Given the description of an element on the screen output the (x, y) to click on. 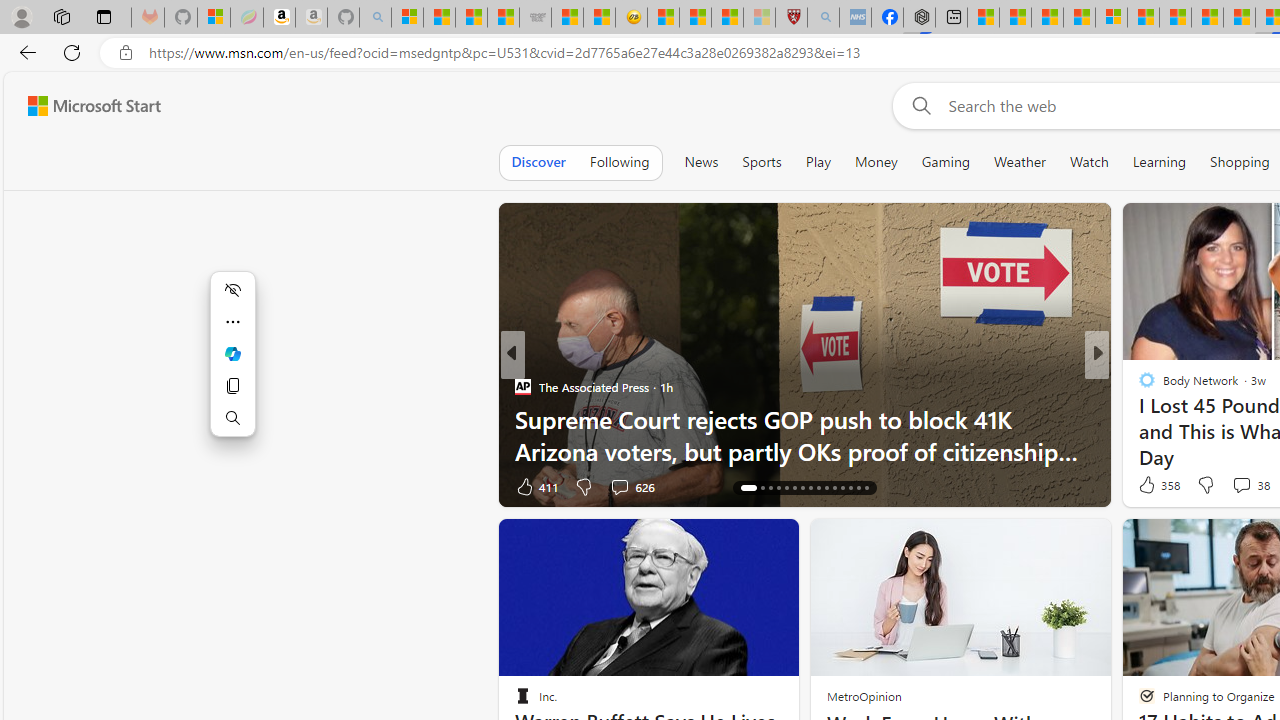
USA TODAY (1138, 386)
AutomationID: tab-27 (842, 487)
View comments 34 Comment (1234, 485)
oceanbluemarine (1176, 418)
165 Like (1151, 486)
AutomationID: tab-22 (801, 487)
The Mirror US (1138, 386)
Hide menu (232, 290)
AutomationID: tab-30 (865, 487)
AutomationID: tab-20 (786, 487)
